Given the description of an element on the screen output the (x, y) to click on. 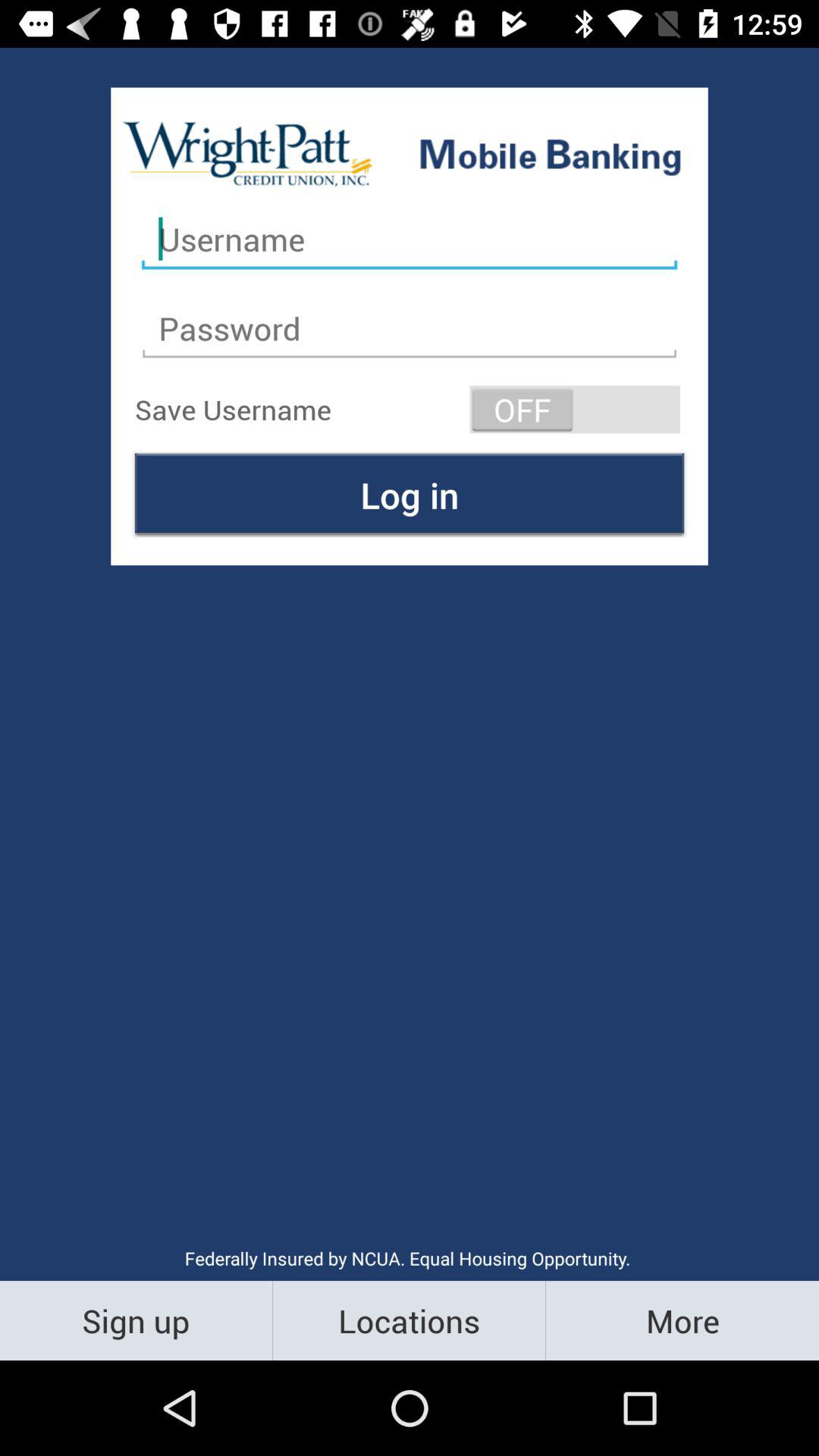
turn on item to the right of the save username item (574, 409)
